Given the description of an element on the screen output the (x, y) to click on. 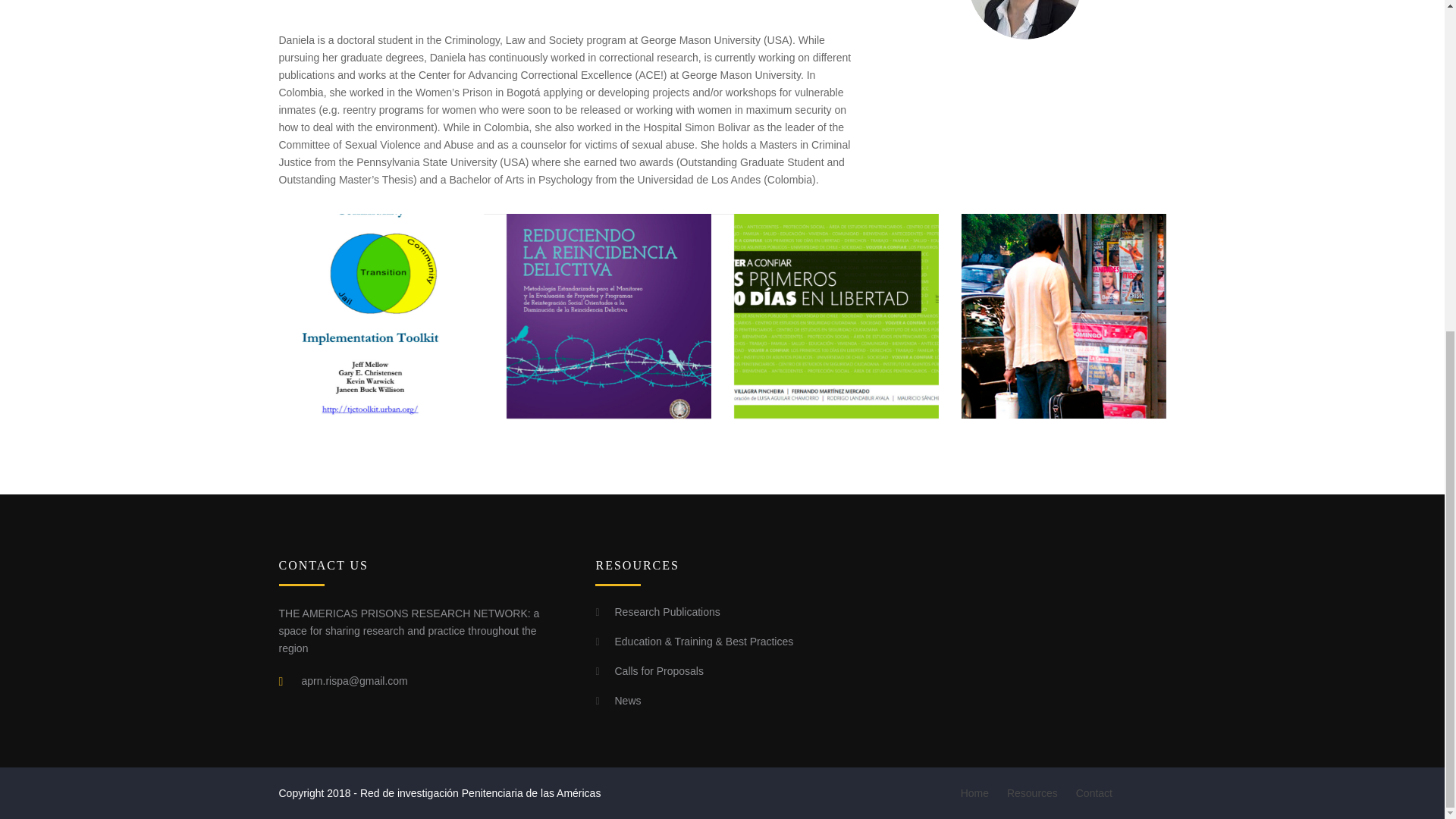
Calls for Proposals (658, 671)
Transition from Jail to Community (381, 315)
Asistencia postpenitenciaria en Chile (1063, 315)
News (627, 700)
Home (974, 793)
Reduciendo la reincidencia delictiva (608, 315)
Resources (1031, 793)
barberi foto (1024, 19)
Contact (1093, 793)
Research Publications (666, 612)
